Given the description of an element on the screen output the (x, y) to click on. 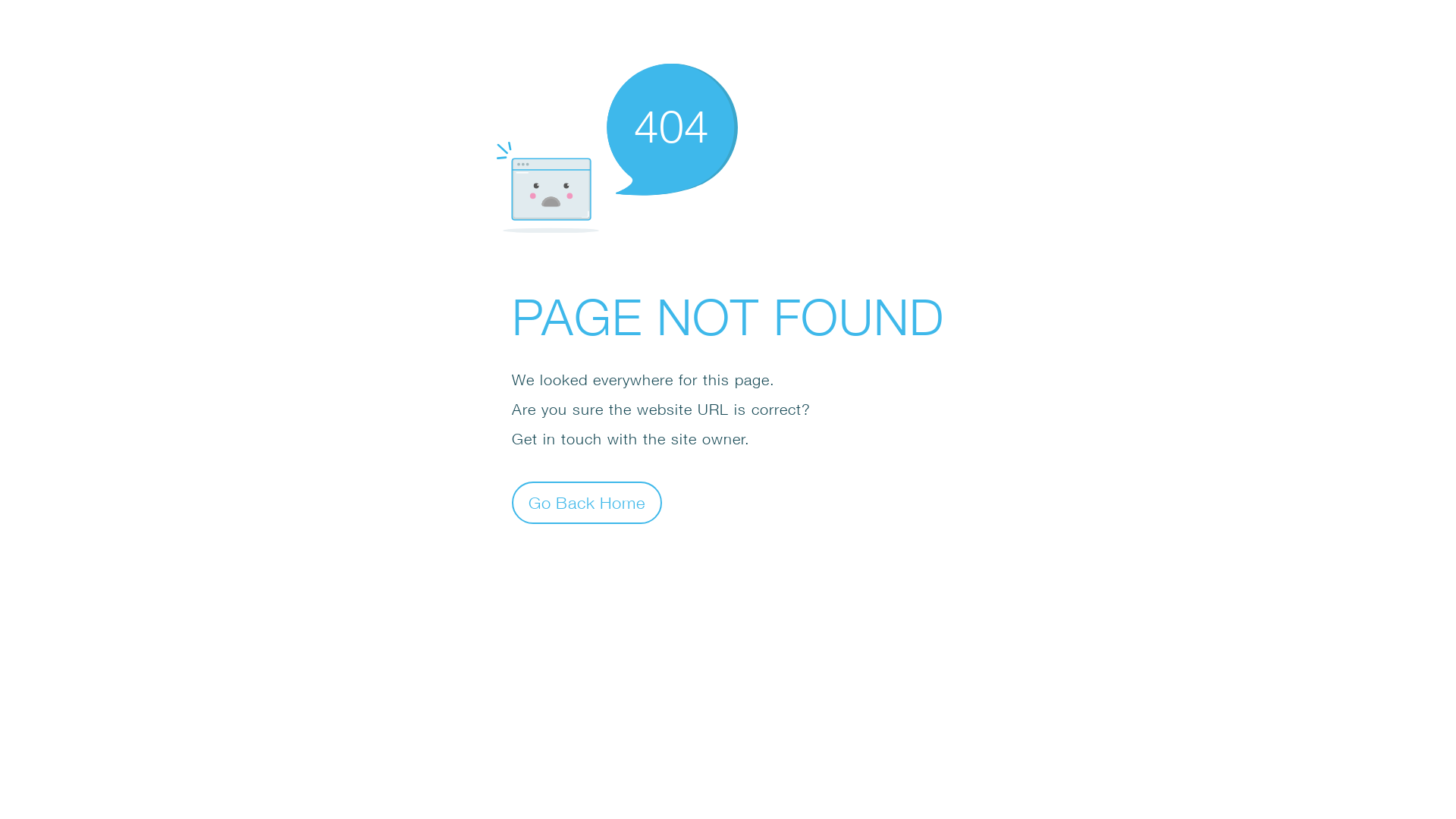
Go Back Home Element type: text (586, 502)
